Given the description of an element on the screen output the (x, y) to click on. 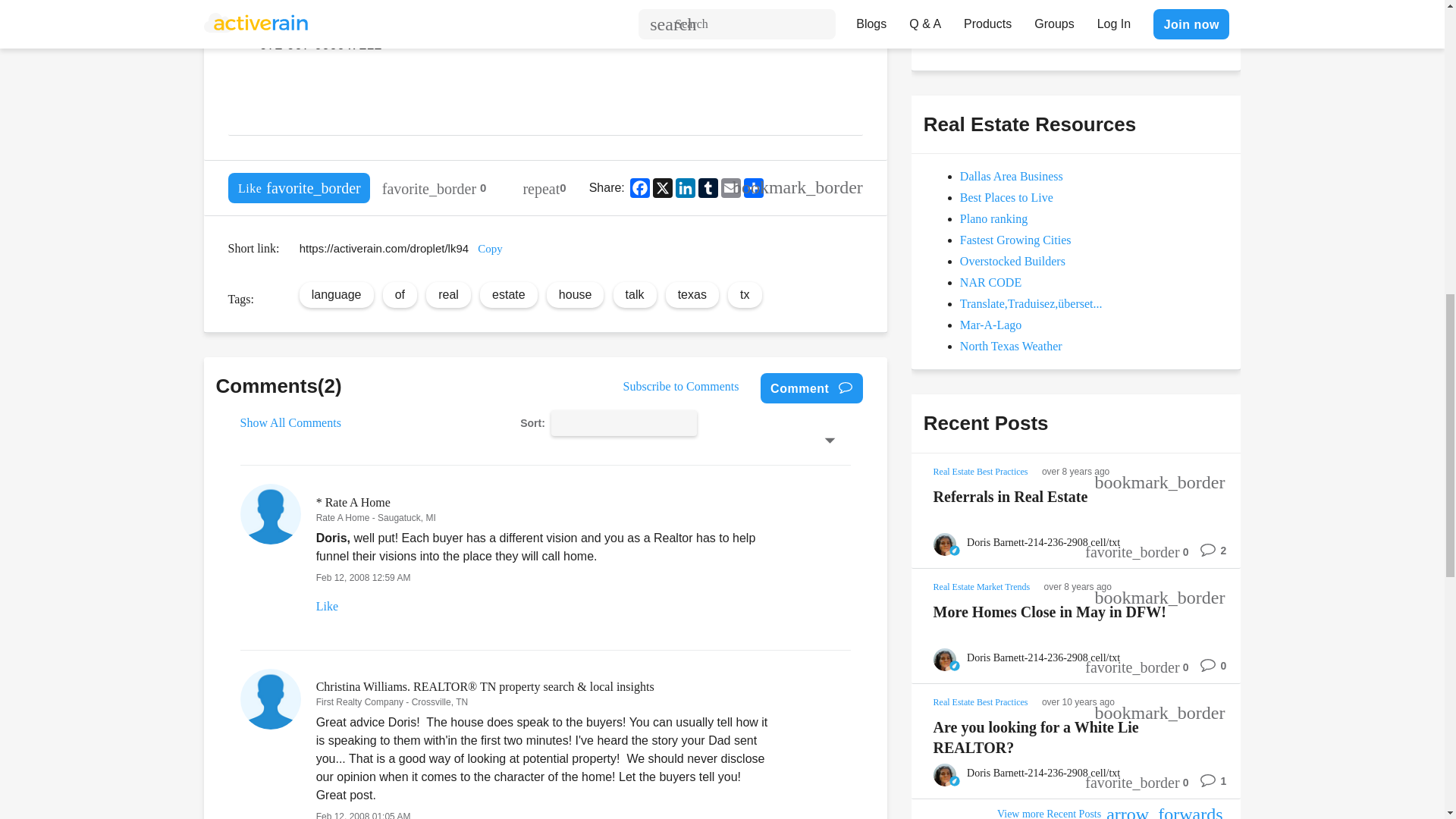
Facebook (639, 188)
LinkedIn (685, 188)
Copy (489, 248)
This entry hasn't been re-blogged (544, 187)
Dallas Area Business (1010, 175)
Best Places to Live (1005, 196)
Plano ranking (993, 218)
talk (635, 294)
Fastest Growing Cities (1015, 239)
North Texas Weather (1010, 345)
house (575, 294)
NAR CODE (990, 282)
repeat 0 (544, 187)
Send Message (978, 30)
Tumblr (708, 188)
